Given the description of an element on the screen output the (x, y) to click on. 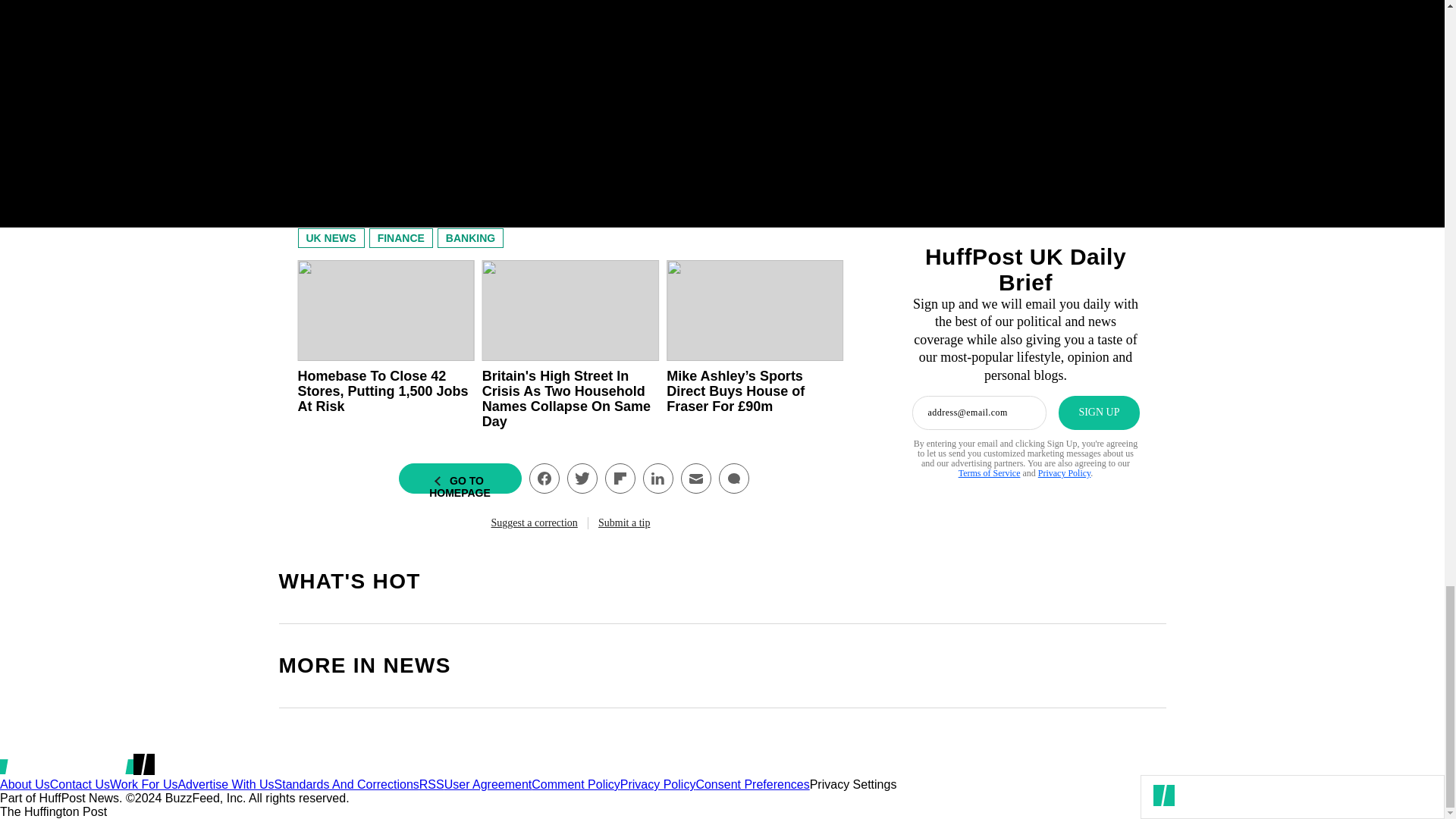
SIGN UP (1098, 412)
